Given the description of an element on the screen output the (x, y) to click on. 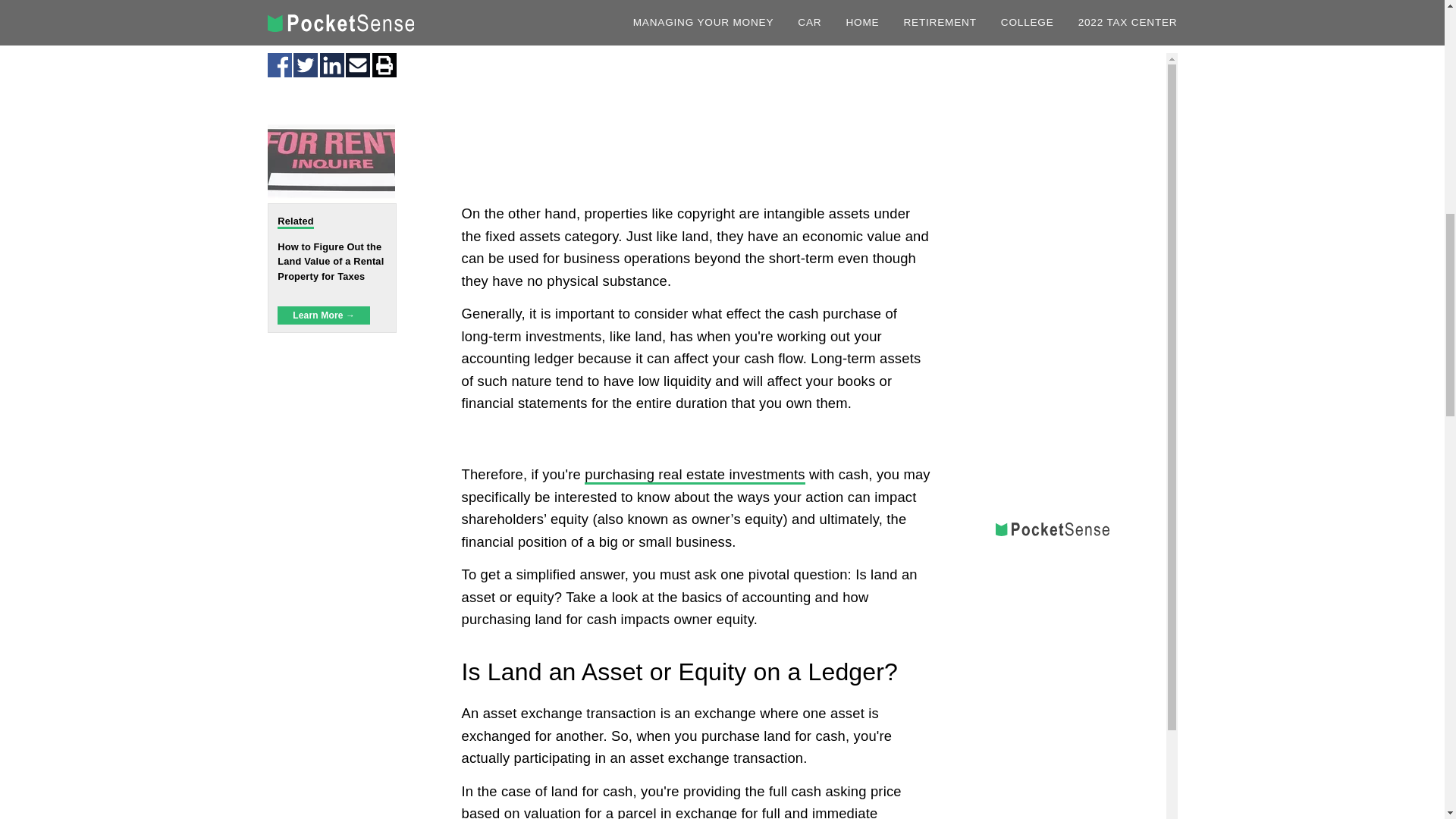
purchasing real estate investments (695, 475)
